Given the description of an element on the screen output the (x, y) to click on. 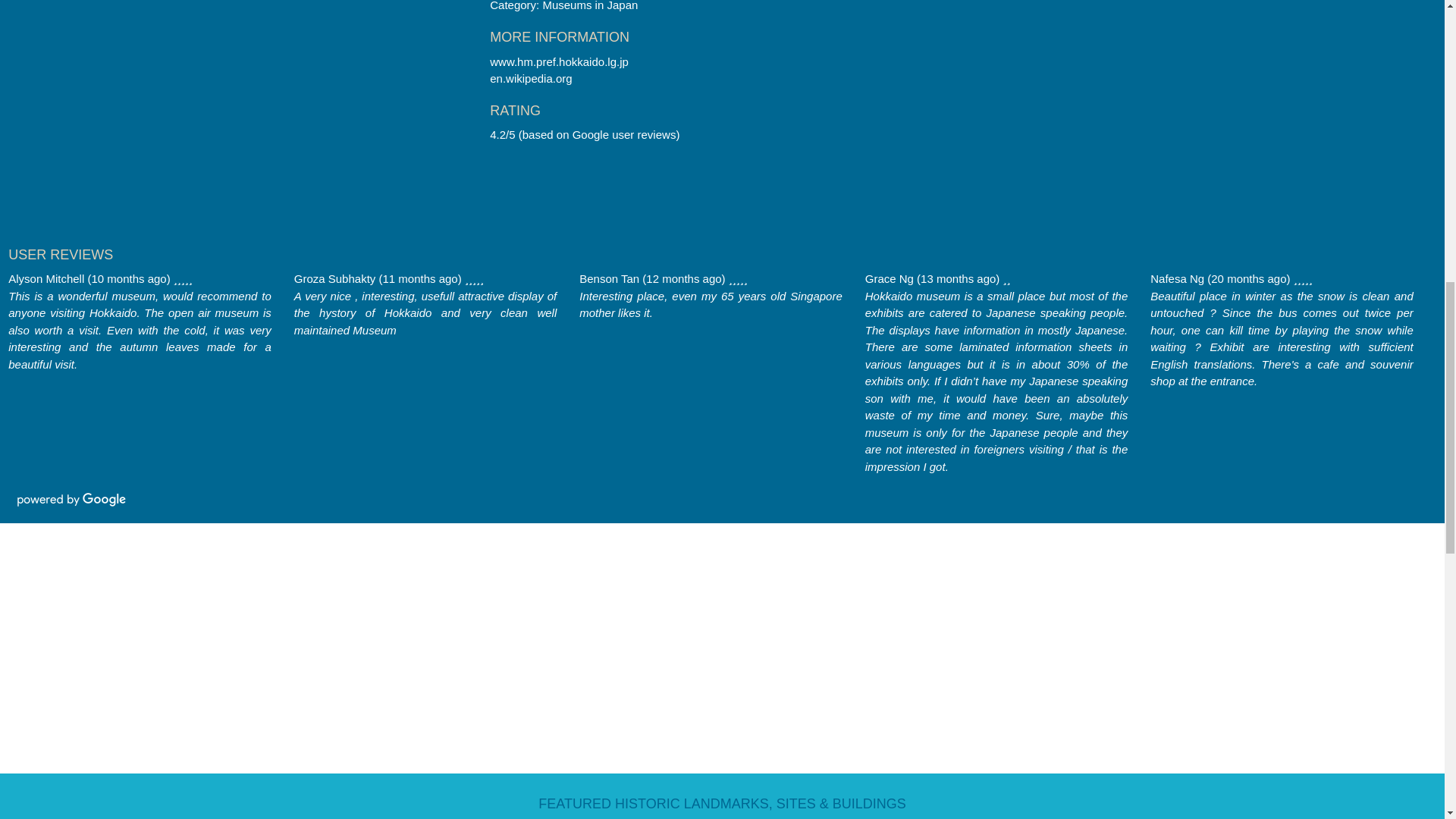
en.wikipedia.org (530, 78)
Museums in Japan (589, 5)
www.hm.pref.hokkaido.lg.jp (558, 61)
